Given the description of an element on the screen output the (x, y) to click on. 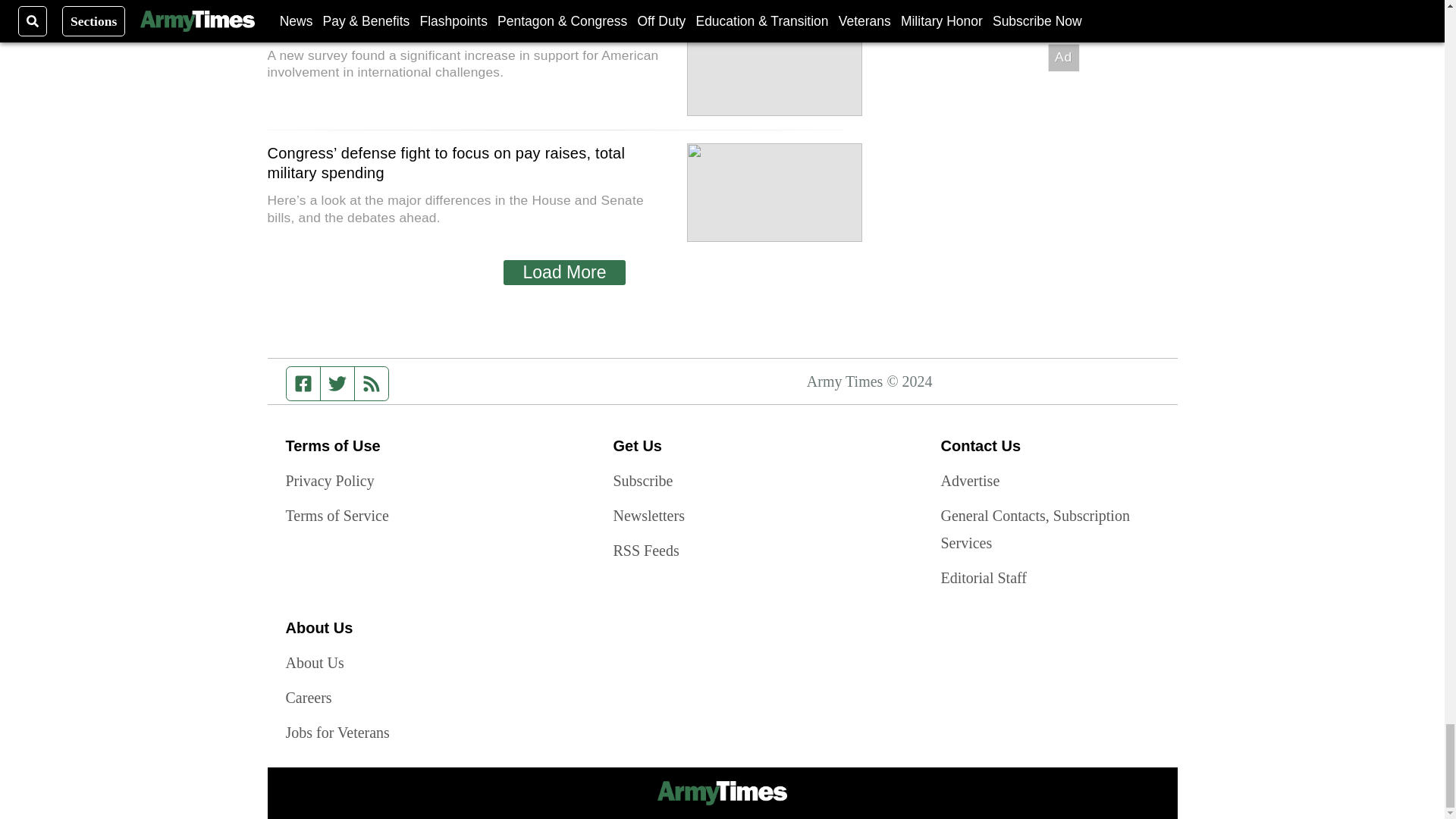
RSS feed (371, 383)
Facebook page (303, 383)
Twitter feed (336, 383)
